Given the description of an element on the screen output the (x, y) to click on. 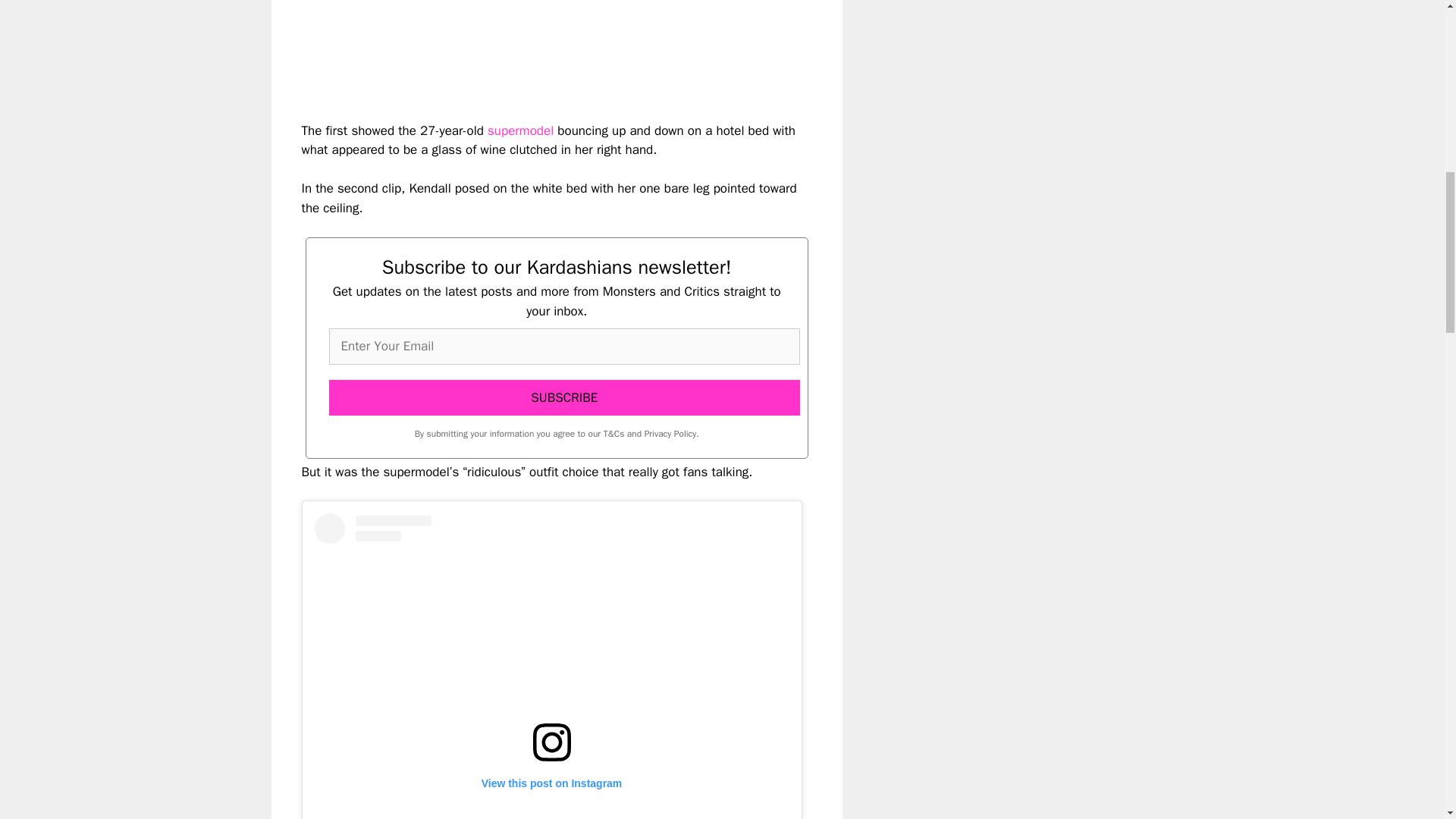
SUBSCRIBE (564, 398)
YouTube video player (513, 48)
supermodel (520, 130)
SUBSCRIBE (564, 398)
